Given the description of an element on the screen output the (x, y) to click on. 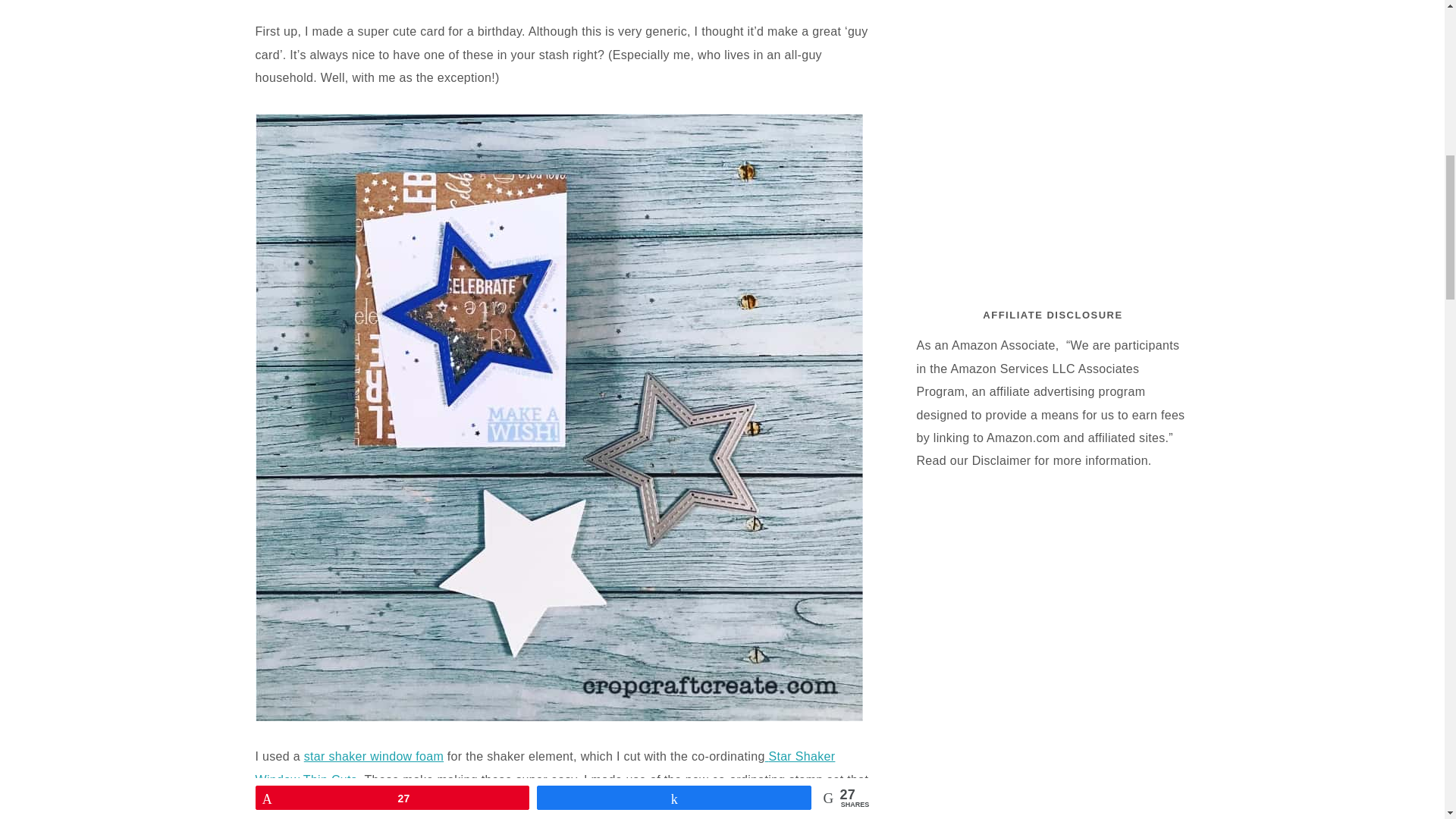
Star Shaker Window Thin Cuts. (544, 767)
star shaker window foam (374, 756)
